Given the description of an element on the screen output the (x, y) to click on. 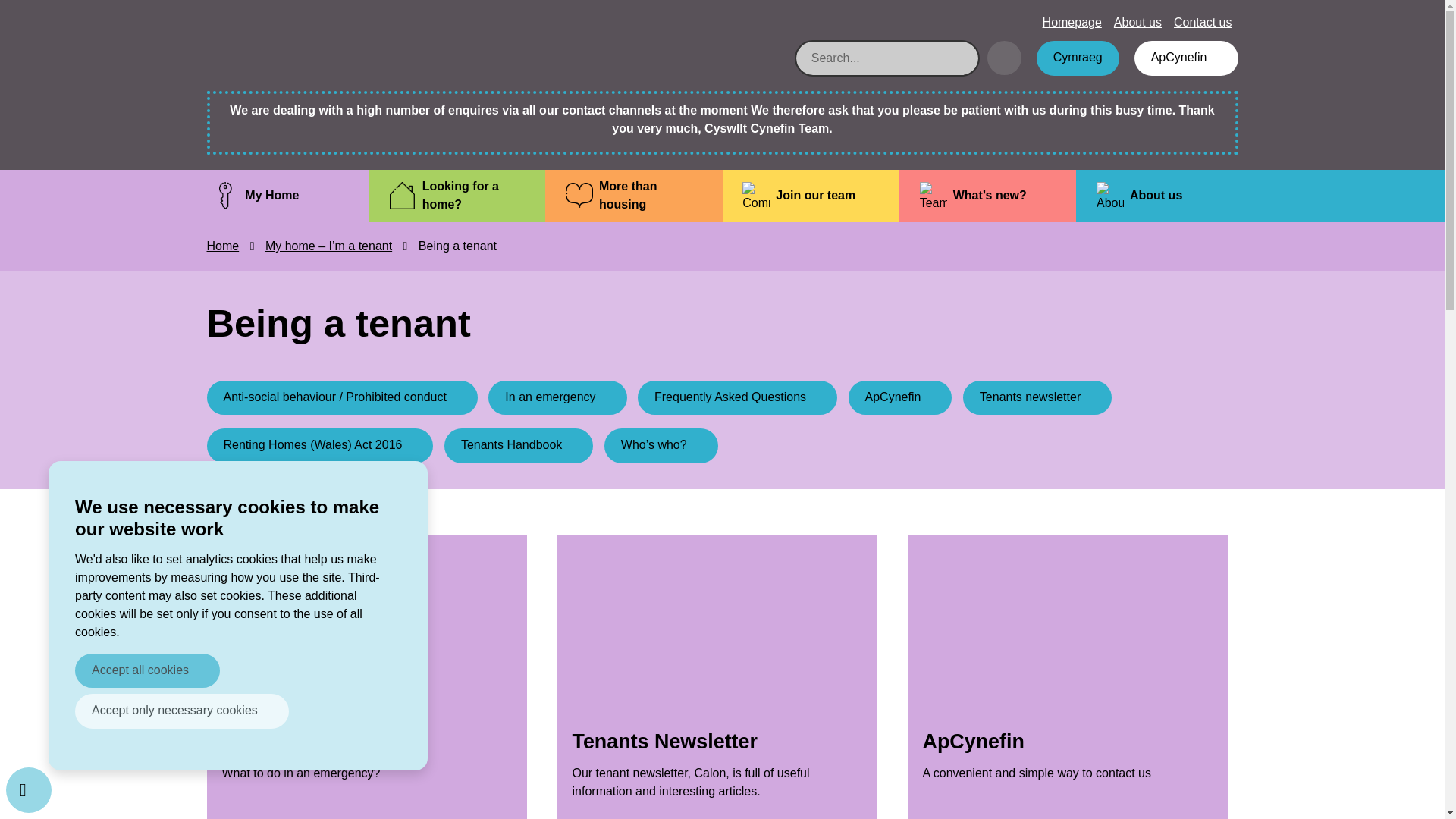
My Home (280, 195)
Tenants Handbook (518, 445)
Accept only necessary cookies (181, 710)
ApCynefin (900, 397)
Cymraeg (1077, 58)
Contact us (1202, 22)
Click to change Cookie Settings (27, 790)
Looking for a home? (456, 195)
Frequently Asked Questions (737, 397)
More than housing (633, 195)
